Given the description of an element on the screen output the (x, y) to click on. 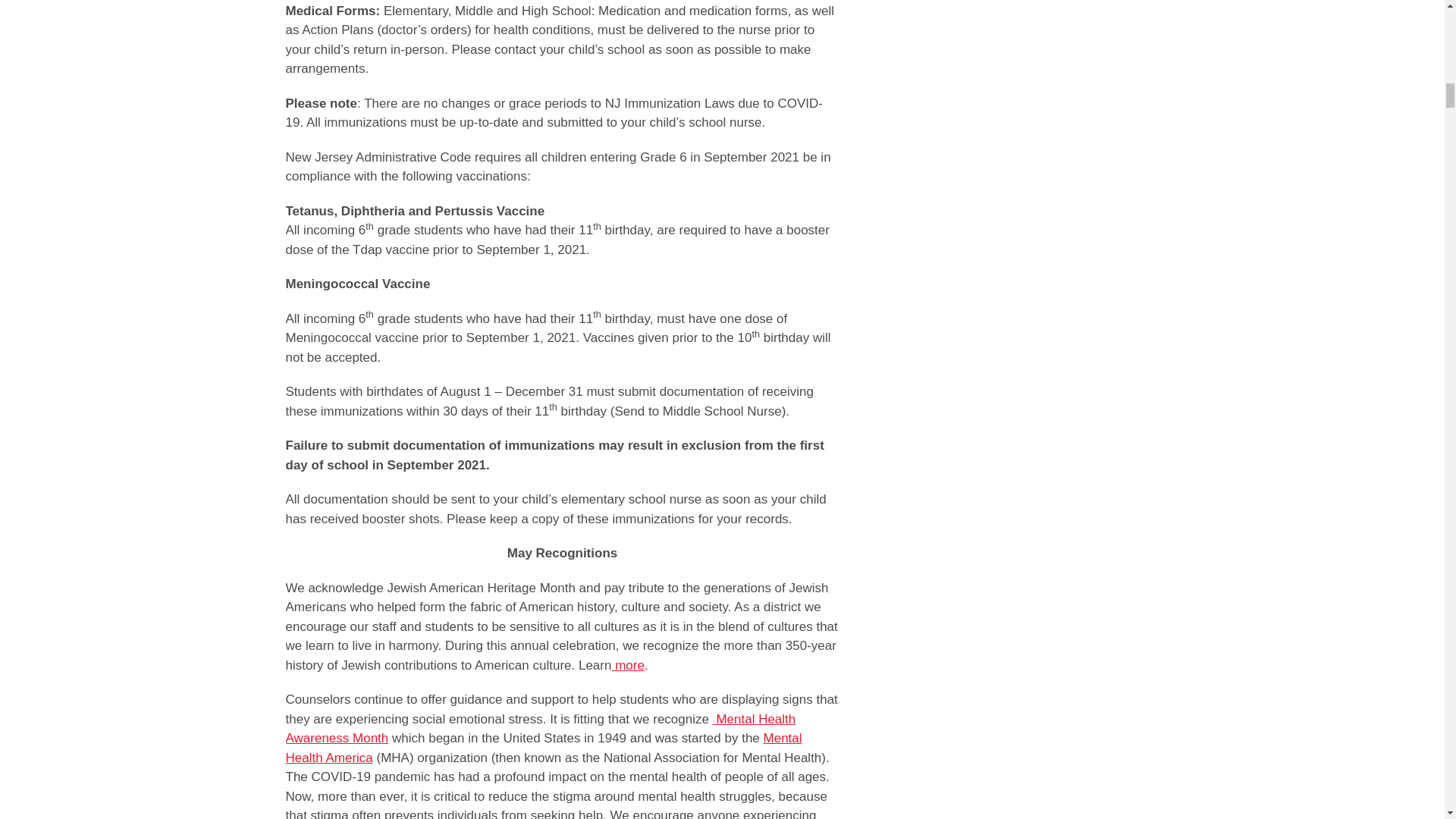
www.mhanational.org (539, 728)
en.wikipedia.org (543, 747)
www.jewishheritagemonth.gov (627, 665)
